Given the description of an element on the screen output the (x, y) to click on. 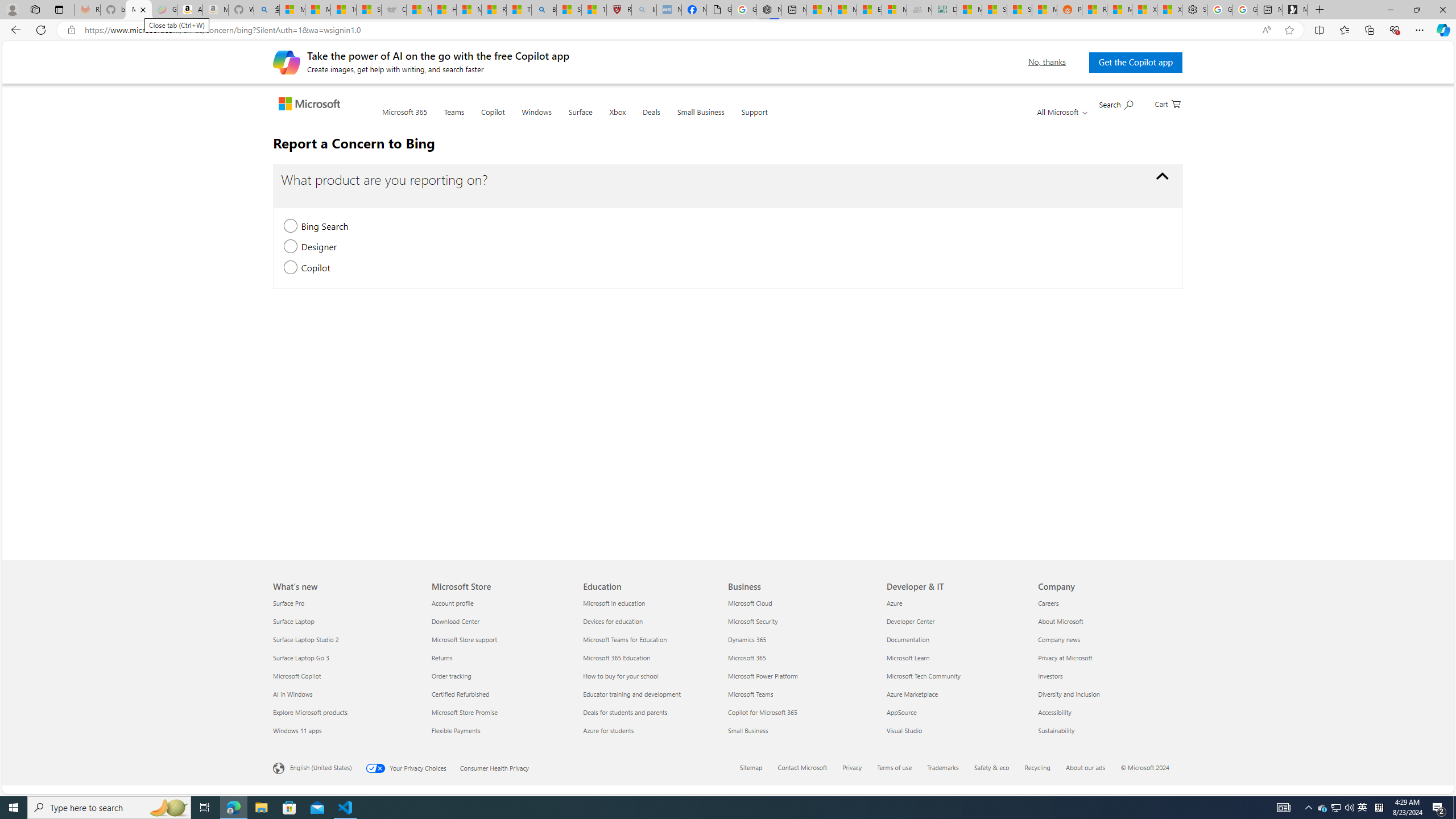
Surface (579, 118)
What product are you reporting on? no option selected (1162, 175)
Copilot, new section will be expanded (290, 268)
How I Got Rid of Microsoft Edge's Unnecessary Features (443, 9)
Microsoft Learn Developer & IT (908, 656)
Accessibility Company (1054, 711)
Privacy at Microsoft (1107, 657)
Sustainability Company (1056, 729)
Google Analytics Opt-out Browser Add-on Download Page (718, 9)
Safety & eco (991, 766)
Explore Microsoft products What's new (310, 711)
